Given the description of an element on the screen output the (x, y) to click on. 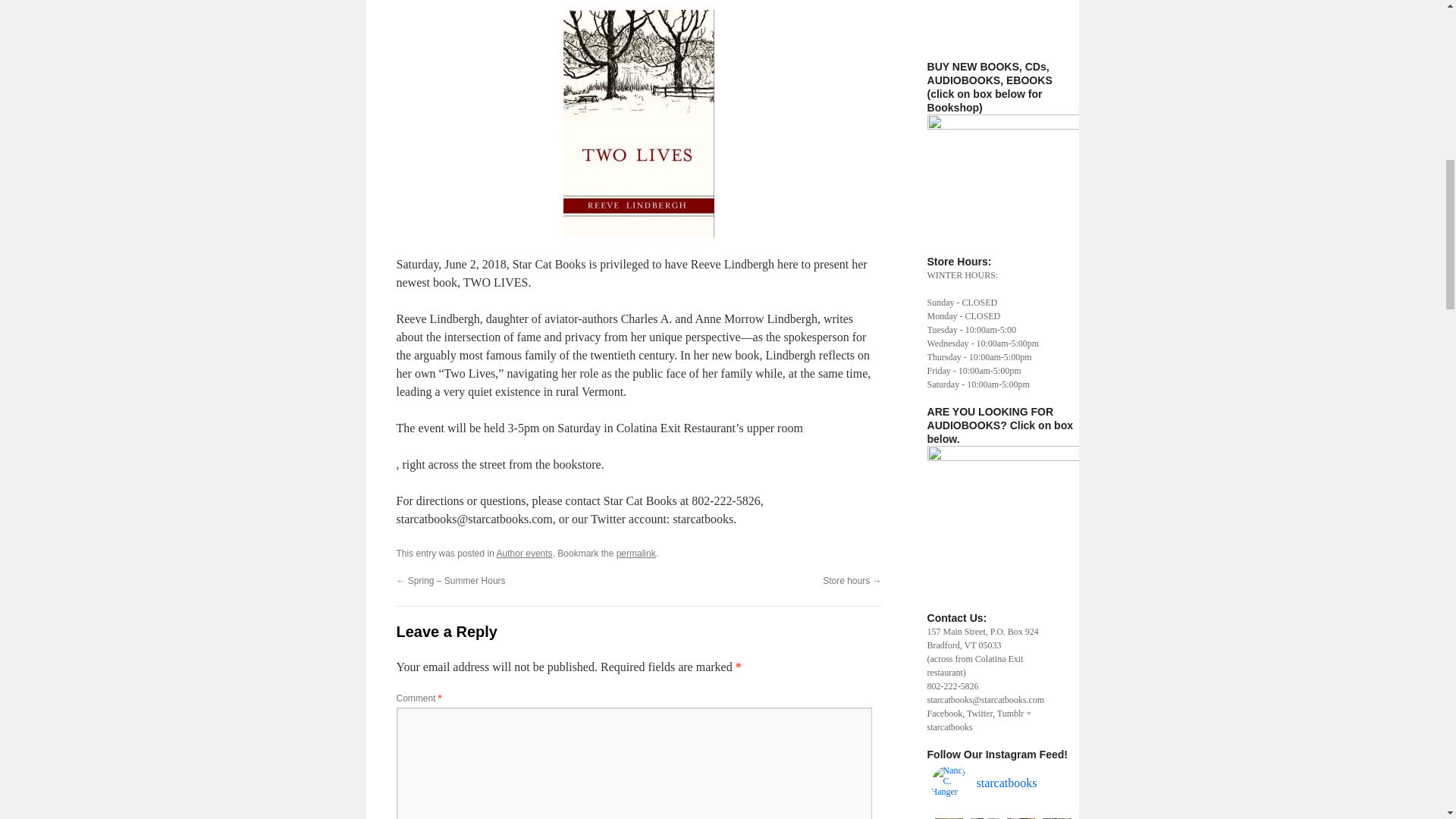
starcatbooks (1003, 783)
permalink (635, 552)
Author events (524, 552)
